Given the description of an element on the screen output the (x, y) to click on. 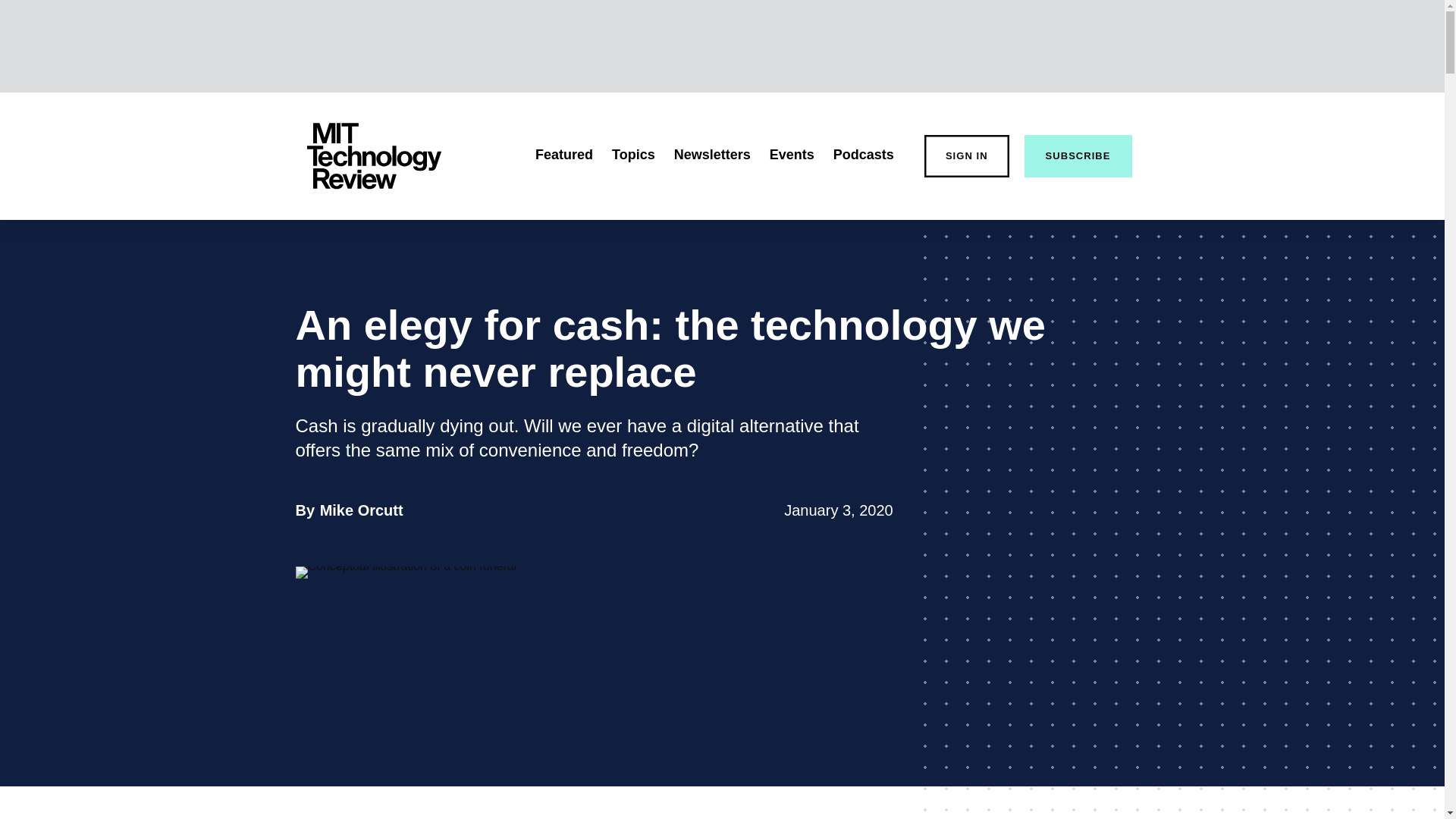
SIGN IN (966, 156)
Featured (563, 154)
Podcasts (862, 154)
Topics (633, 154)
SUBSCRIBE (1078, 156)
MIT Technology Review (373, 155)
Newsletters (712, 154)
Events (361, 510)
